Given the description of an element on the screen output the (x, y) to click on. 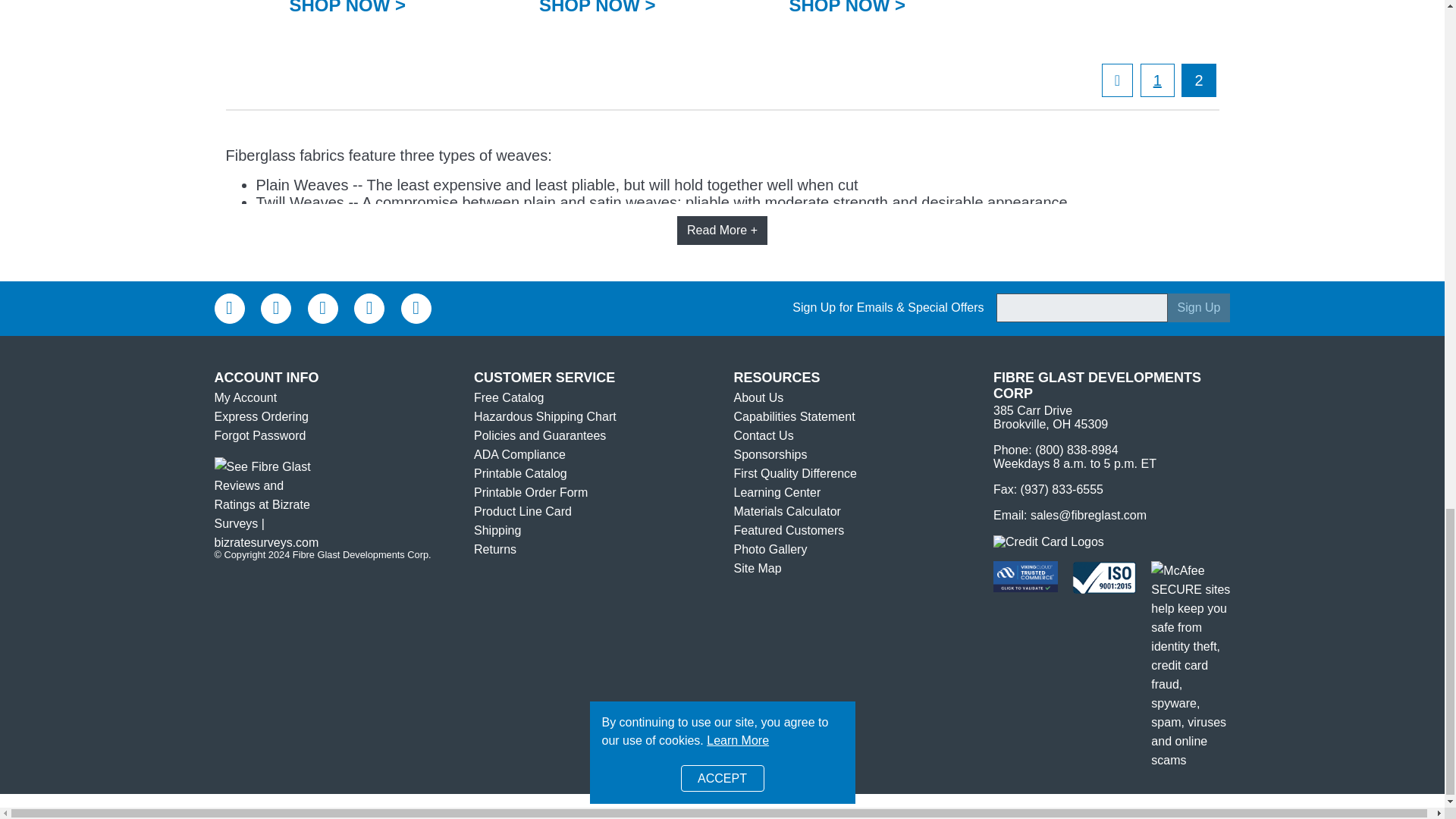
Sign Up (1198, 307)
